Given the description of an element on the screen output the (x, y) to click on. 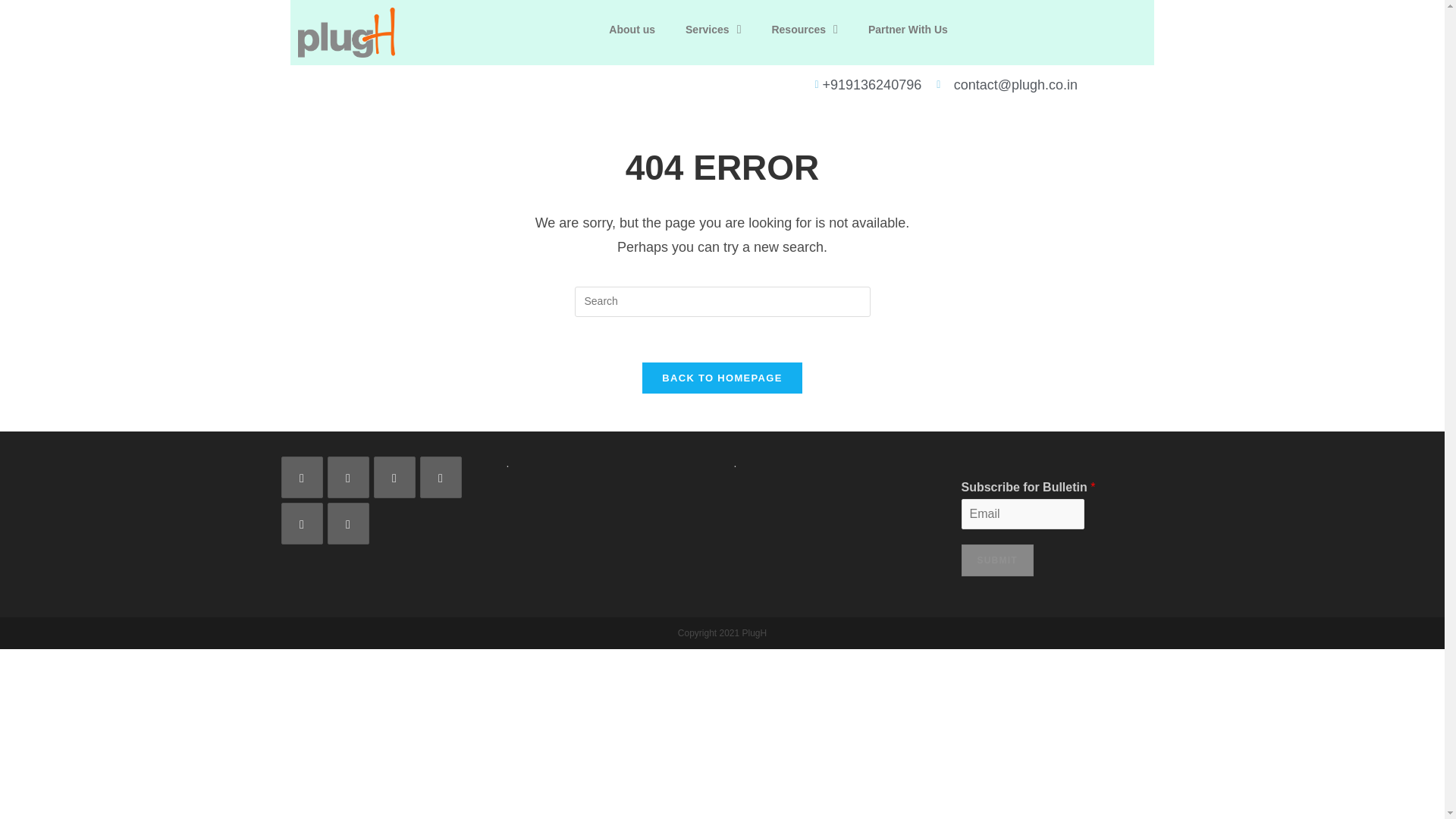
About us (631, 29)
Resources (803, 29)
Partner With Us (907, 29)
Services (712, 29)
